Given the description of an element on the screen output the (x, y) to click on. 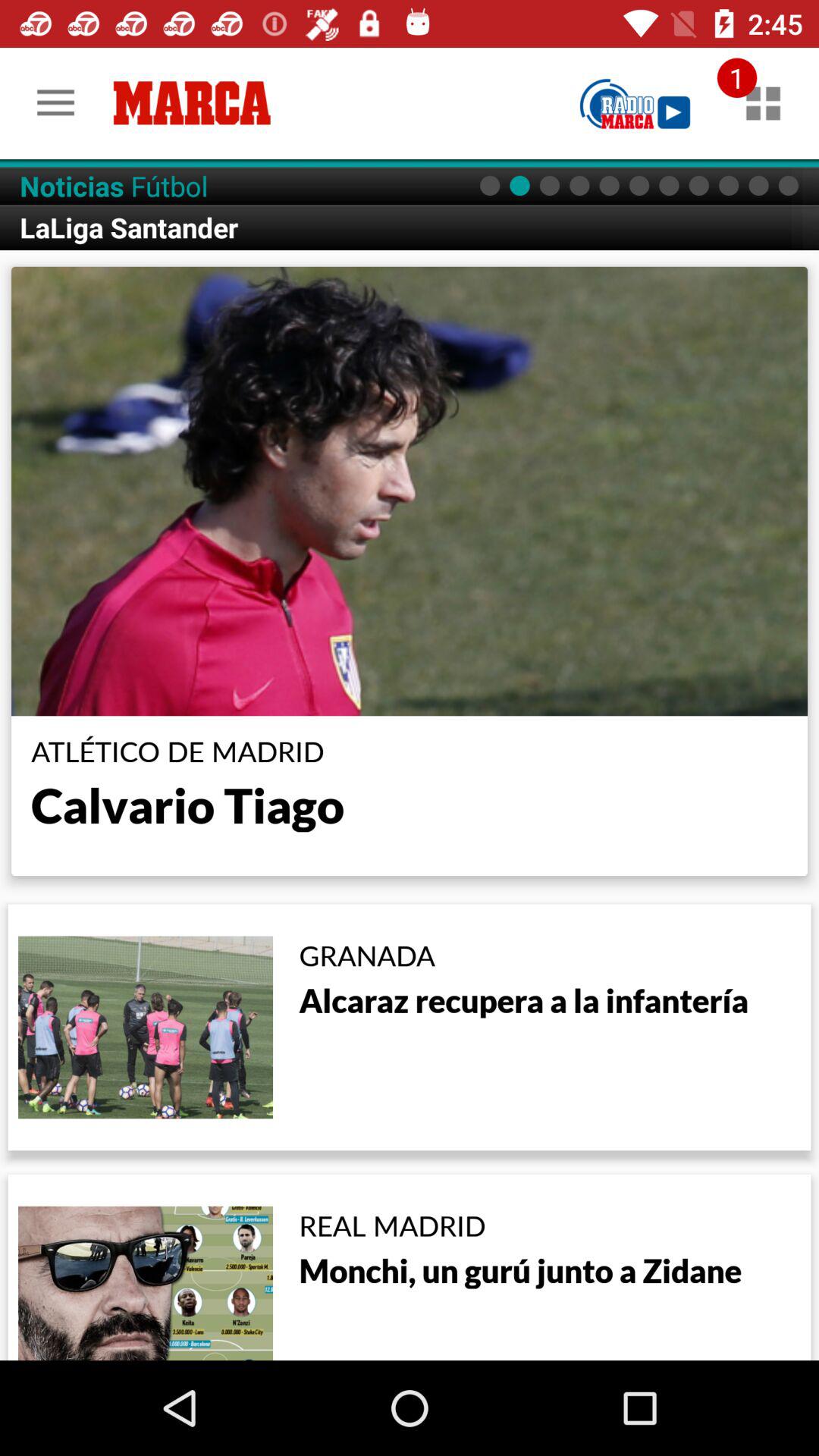
view other related material (763, 103)
